Given the description of an element on the screen output the (x, y) to click on. 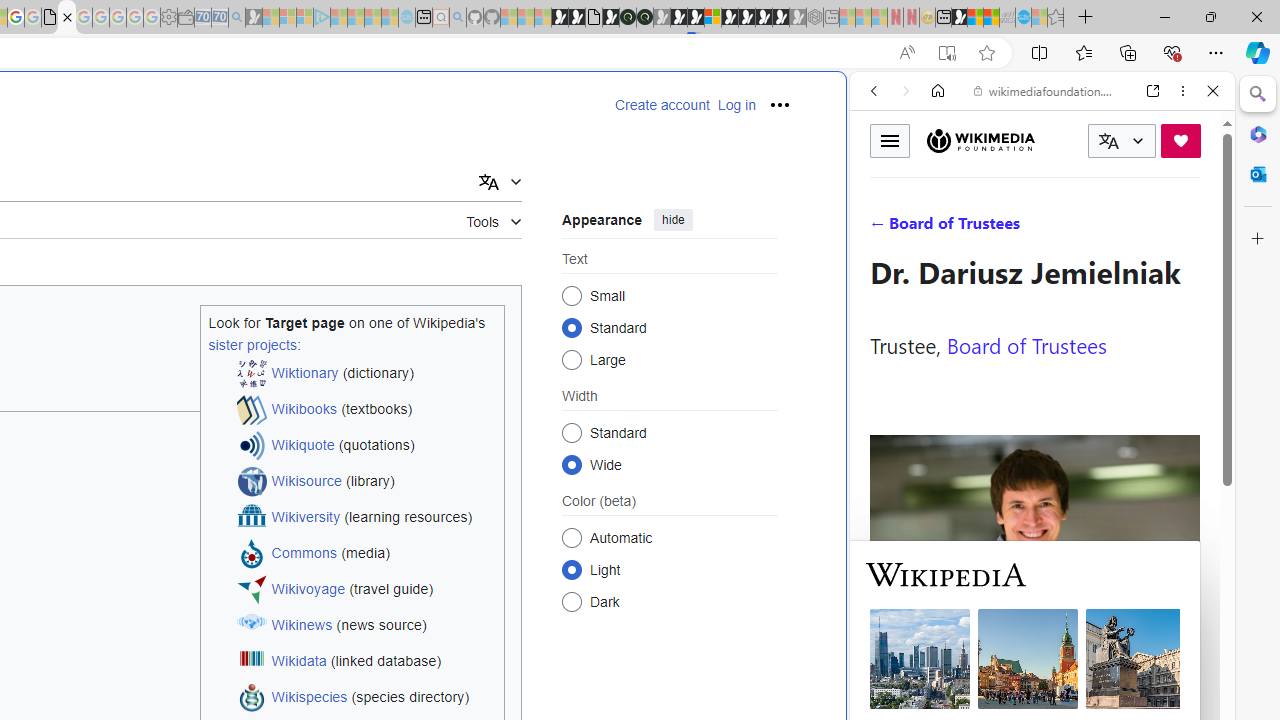
Microsoft account | Privacy - Sleeping (305, 17)
Personal tools (780, 104)
Donate now (1180, 140)
Wikinews (301, 625)
Search the web (1051, 137)
Future Focus Report 2024 (644, 17)
